Given the description of an element on the screen output the (x, y) to click on. 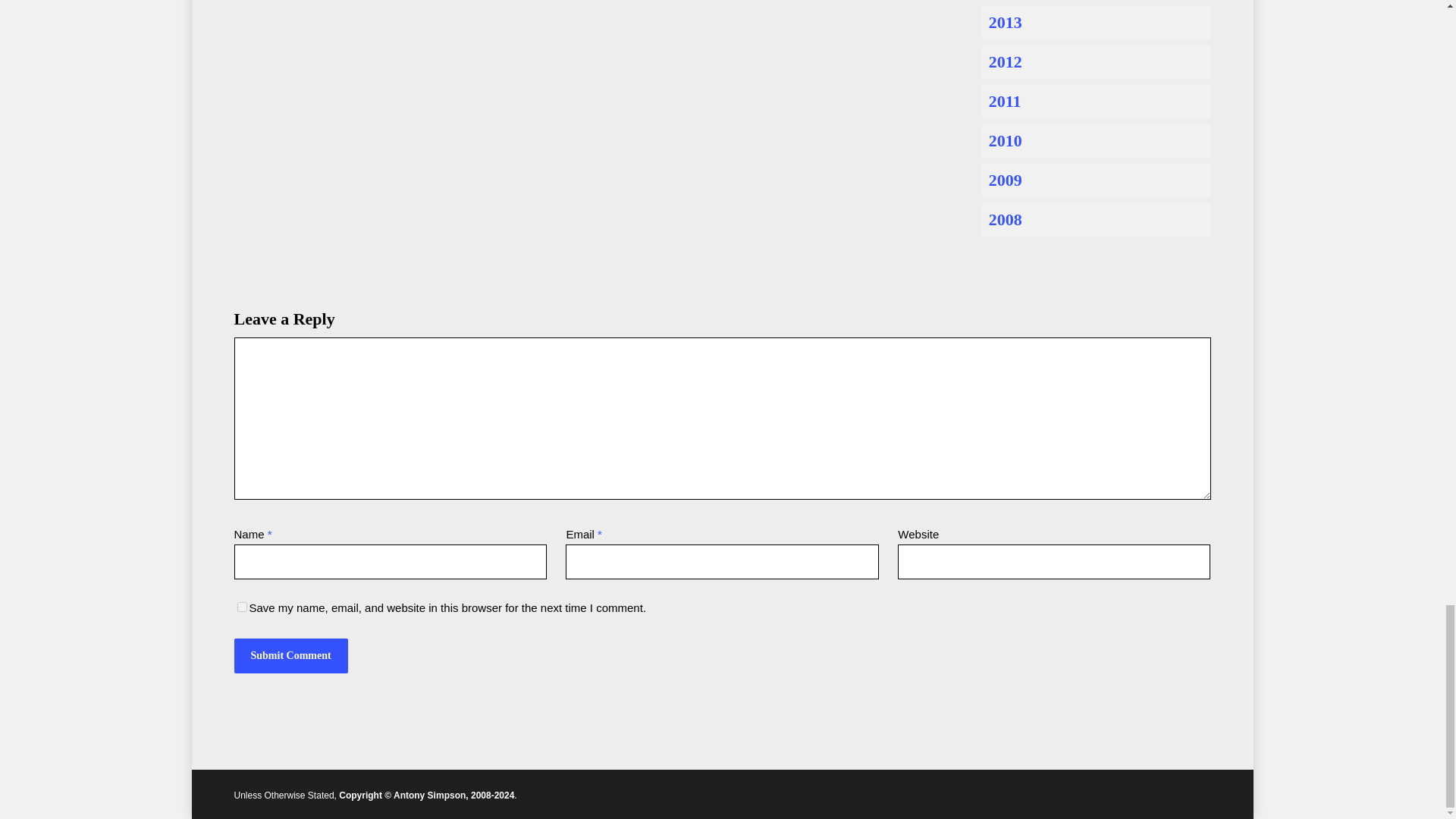
Submit Comment (289, 655)
yes (240, 606)
